Given the description of an element on the screen output the (x, y) to click on. 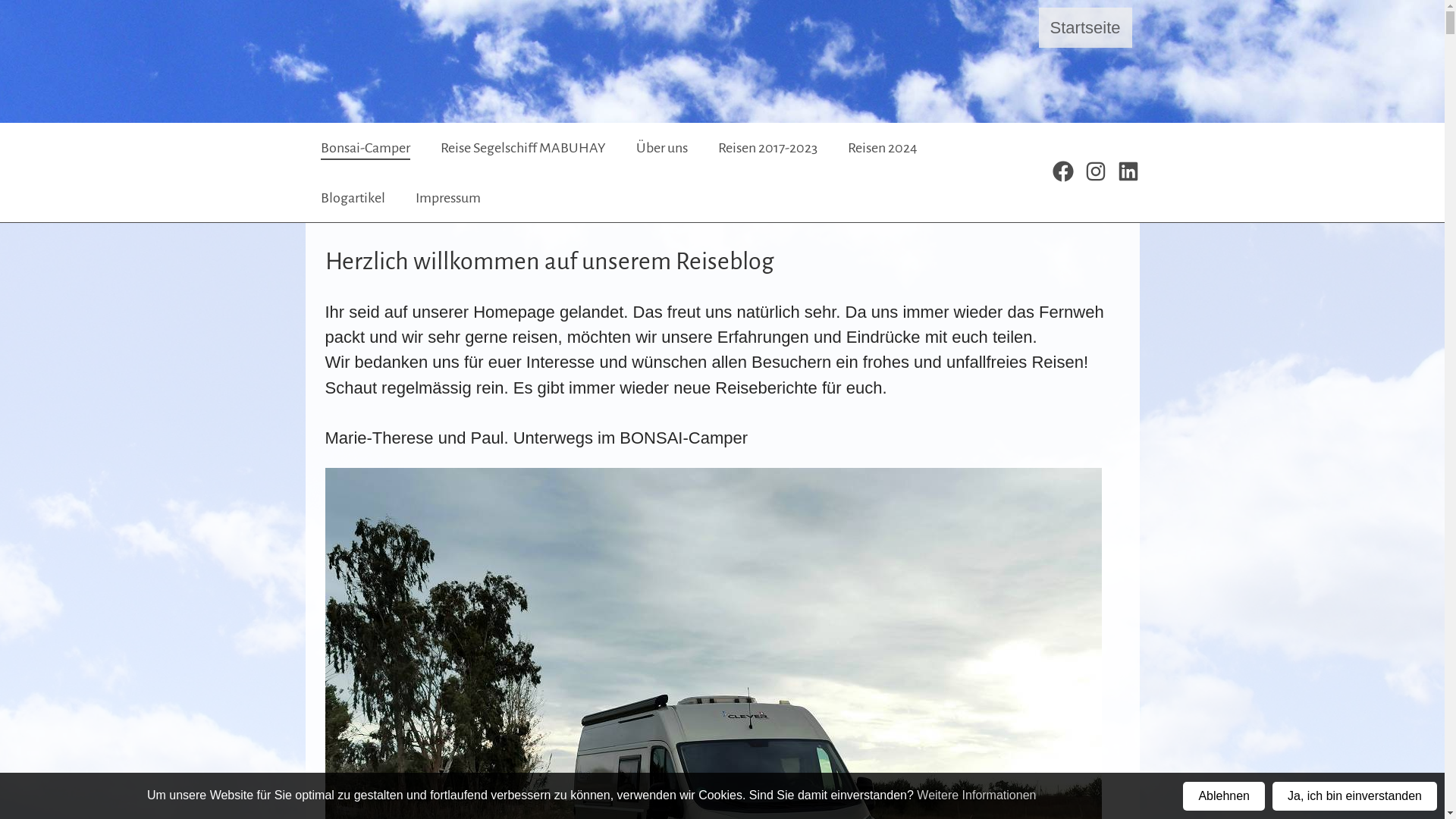
Bonsai-Camper Element type: text (364, 147)
Impressum Element type: text (447, 197)
Reise Segelschiff MABUHAY Element type: text (522, 147)
Icon Element type: hover (1062, 172)
Startseite Element type: text (1085, 29)
Icon Element type: hover (1094, 172)
Blogartikel Element type: text (352, 197)
Weitere Informationen Element type: text (975, 794)
Reisen 2024 Element type: text (882, 147)
Icon Element type: hover (1128, 172)
Reisen 2017-2023 Element type: text (766, 147)
